Given the description of an element on the screen output the (x, y) to click on. 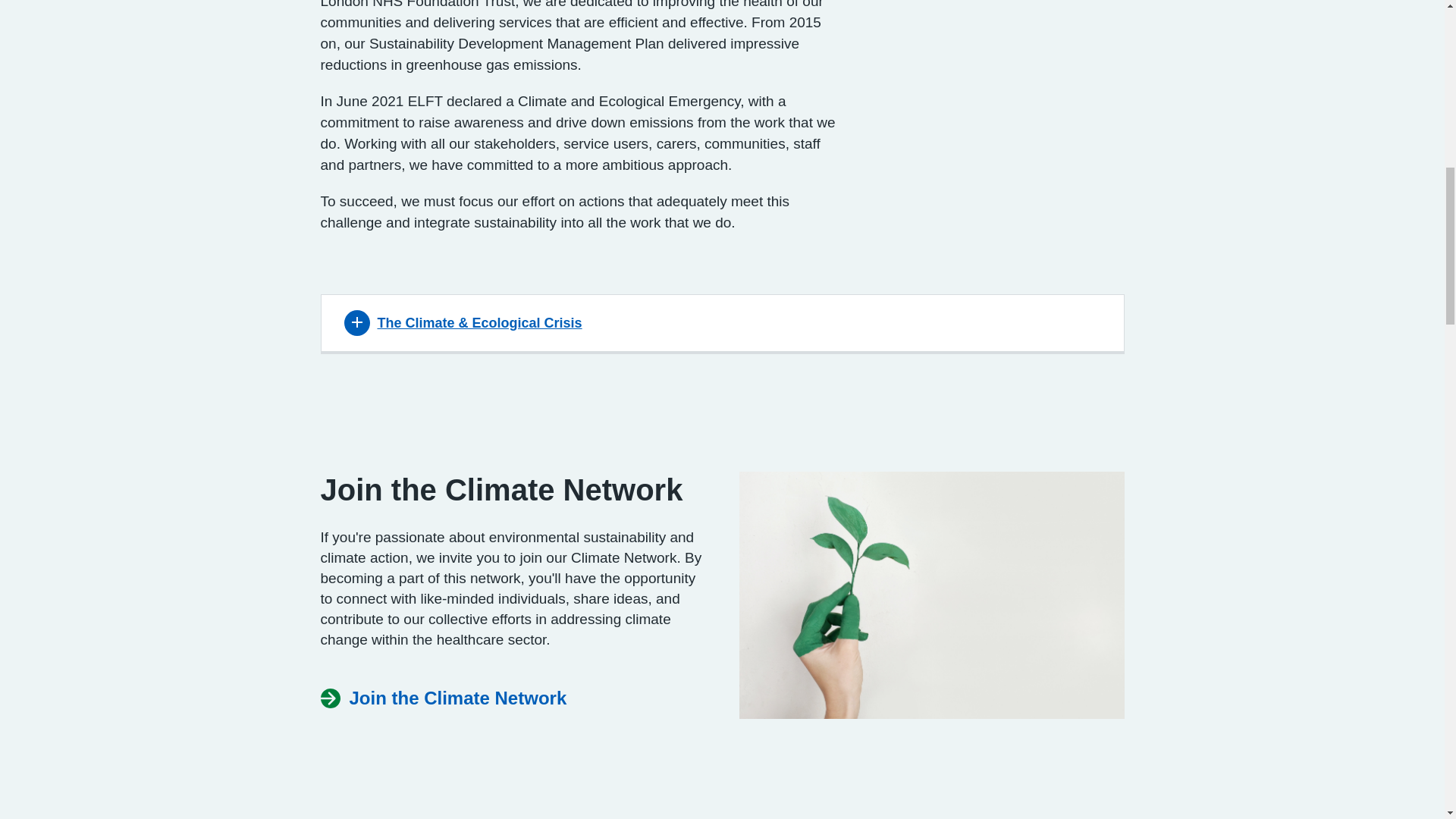
Join the Climate Network (443, 698)
